Given the description of an element on the screen output the (x, y) to click on. 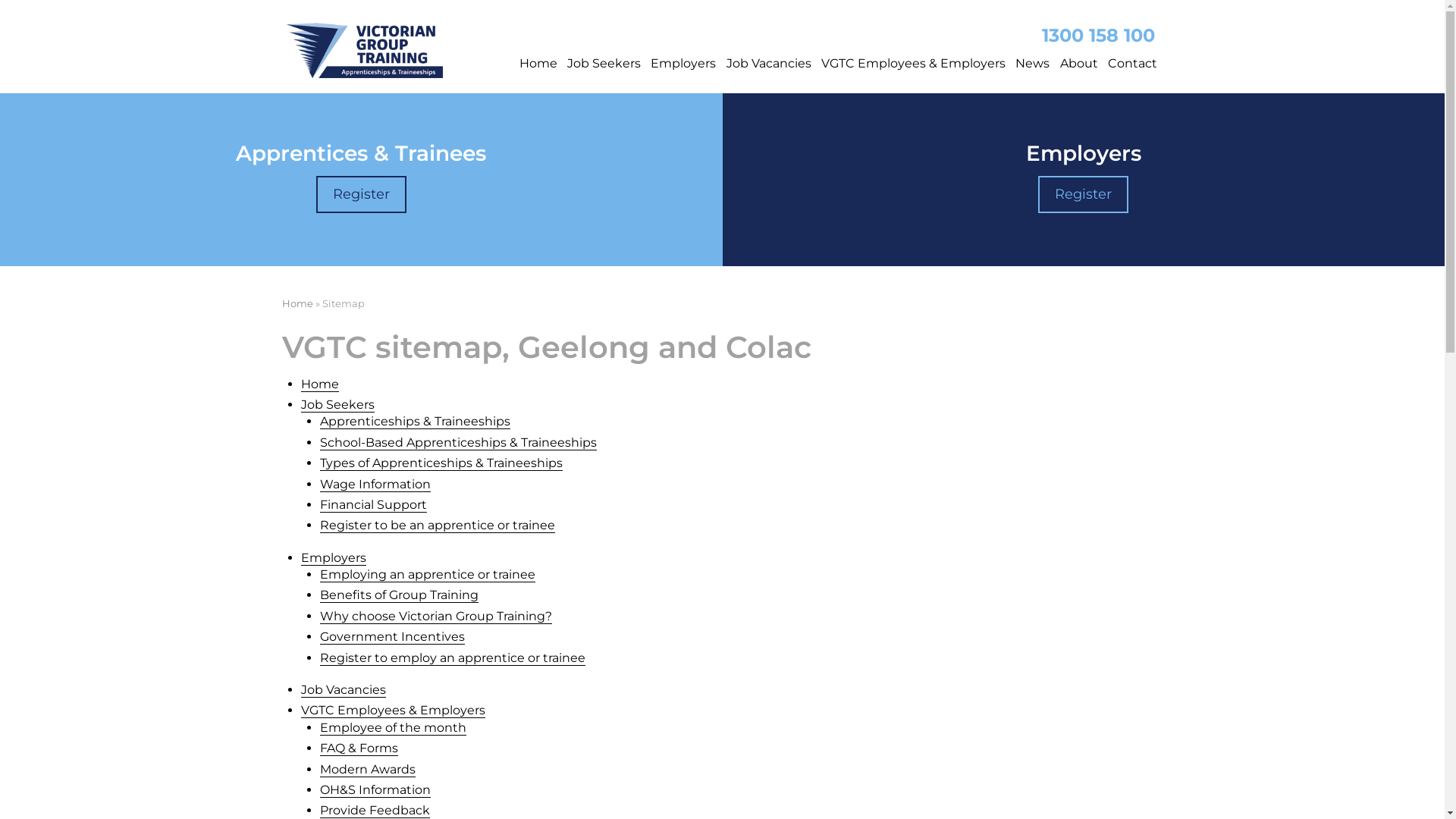
News Element type: text (1032, 59)
Job Seekers Element type: text (337, 404)
Wage Information Element type: text (375, 484)
Financial Support Element type: text (373, 504)
Employers Element type: text (333, 557)
VGTC Employees & Employers Element type: text (912, 59)
Job Vacancies Element type: text (343, 689)
Apprenticeships & Traineeships Element type: text (415, 421)
Government Incentives Element type: text (392, 636)
School-Based Apprenticeships & Traineeships Element type: text (458, 442)
OH&S Information Element type: text (375, 789)
Register to be an apprentice or trainee Element type: text (437, 525)
Home Element type: text (537, 59)
Employers Element type: text (683, 59)
Home Element type: text (297, 303)
Job Vacancies Element type: text (768, 59)
Why choose Victorian Group Training? Element type: text (436, 616)
Benefits of Group Training Element type: text (399, 594)
FAQ & Forms Element type: text (359, 748)
VGTC Employees & Employers Element type: text (393, 710)
About Element type: text (1078, 59)
Home Element type: text (319, 384)
Employee of the month Element type: text (393, 727)
Types of Apprenticeships & Traineeships Element type: text (441, 462)
Register Element type: text (361, 194)
Provide Feedback Element type: text (374, 810)
Register to employ an apprentice or trainee Element type: text (452, 657)
1300 158 100 Element type: text (1101, 35)
Modern Awards Element type: text (367, 769)
Job Seekers Element type: text (603, 59)
Register Element type: text (1083, 194)
Contact Element type: text (1131, 59)
Employing an apprentice or trainee Element type: text (427, 574)
